Given the description of an element on the screen output the (x, y) to click on. 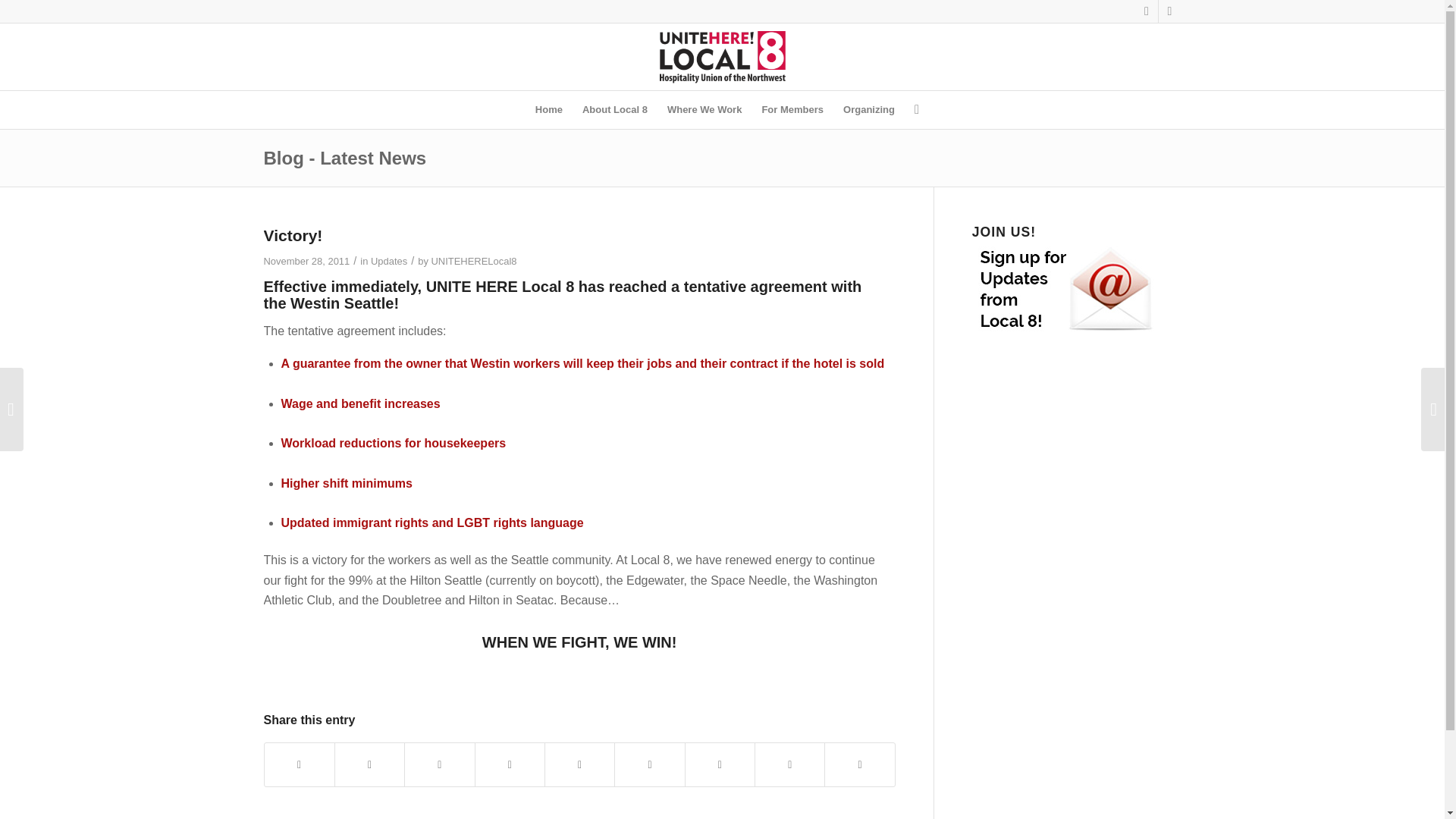
UNITEHERELocal8 (473, 260)
Blog - Latest News (344, 158)
Updates (389, 260)
For Members (791, 109)
About Local 8 (615, 109)
Facebook (1169, 11)
Home (548, 109)
Permanent Link: Blog - Latest News (344, 158)
X (1146, 11)
Posts by UNITEHERELocal8 (473, 260)
Organizing (868, 109)
Where We Work (704, 109)
